Given the description of an element on the screen output the (x, y) to click on. 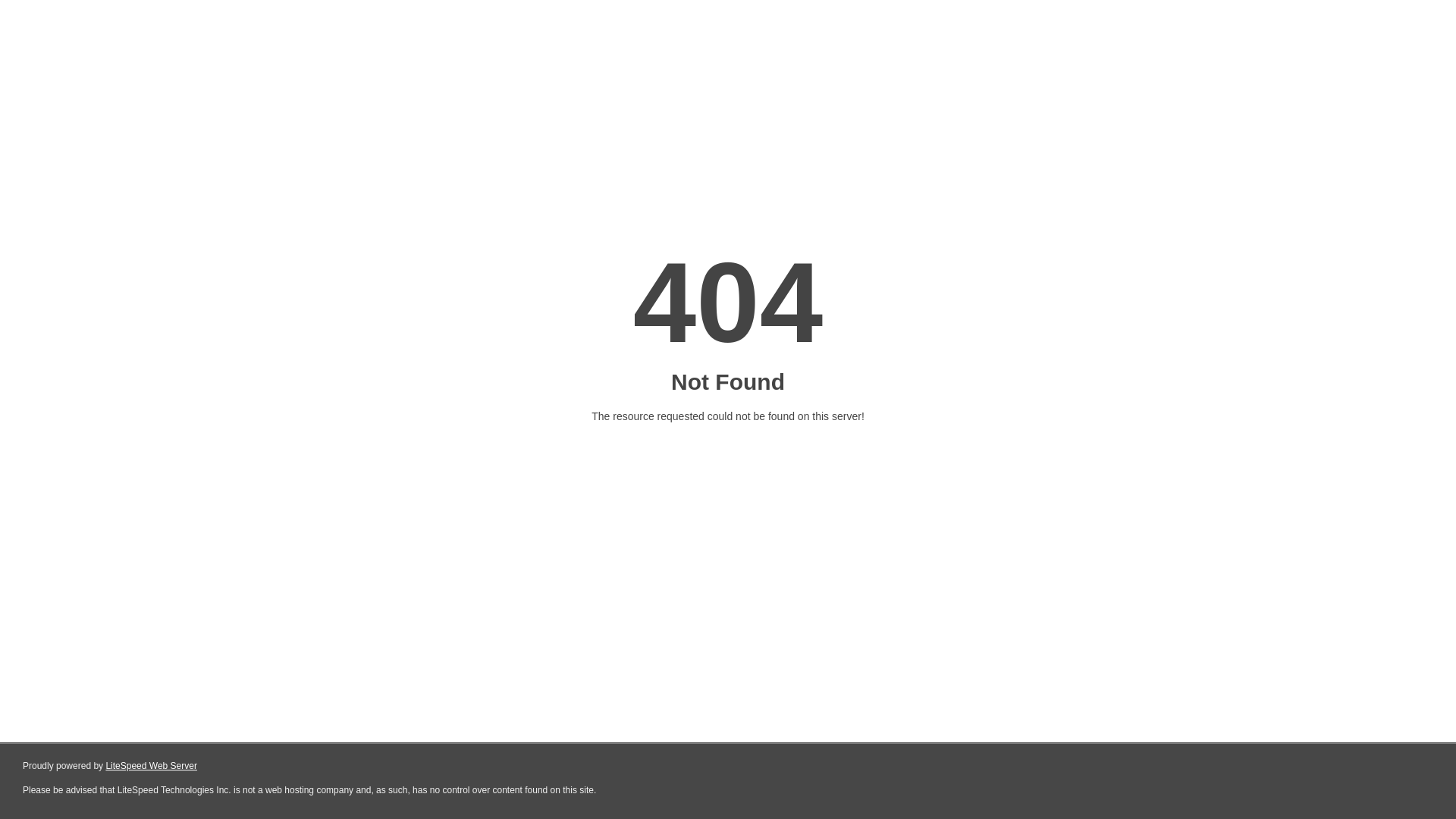
LiteSpeed Web Server Element type: text (151, 765)
